Given the description of an element on the screen output the (x, y) to click on. 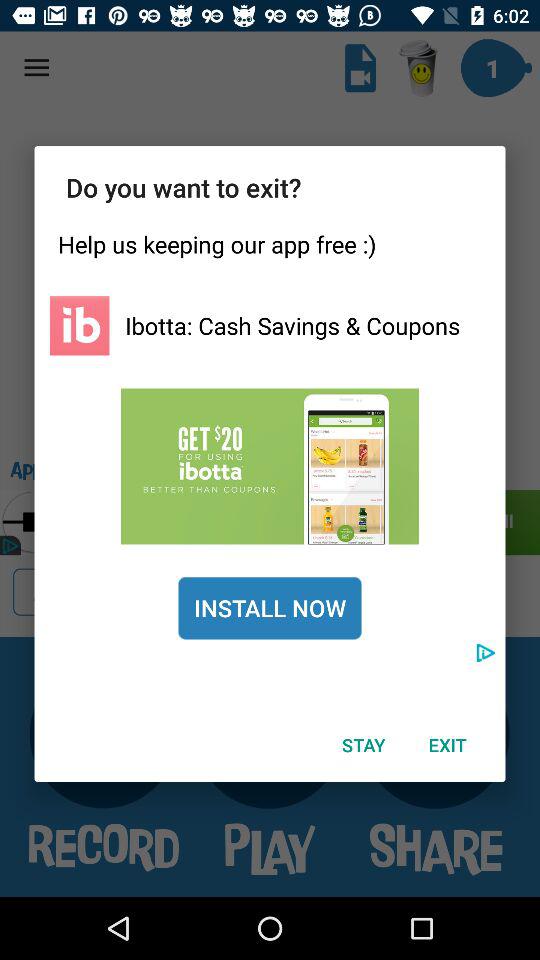
click ib (79, 325)
